Given the description of an element on the screen output the (x, y) to click on. 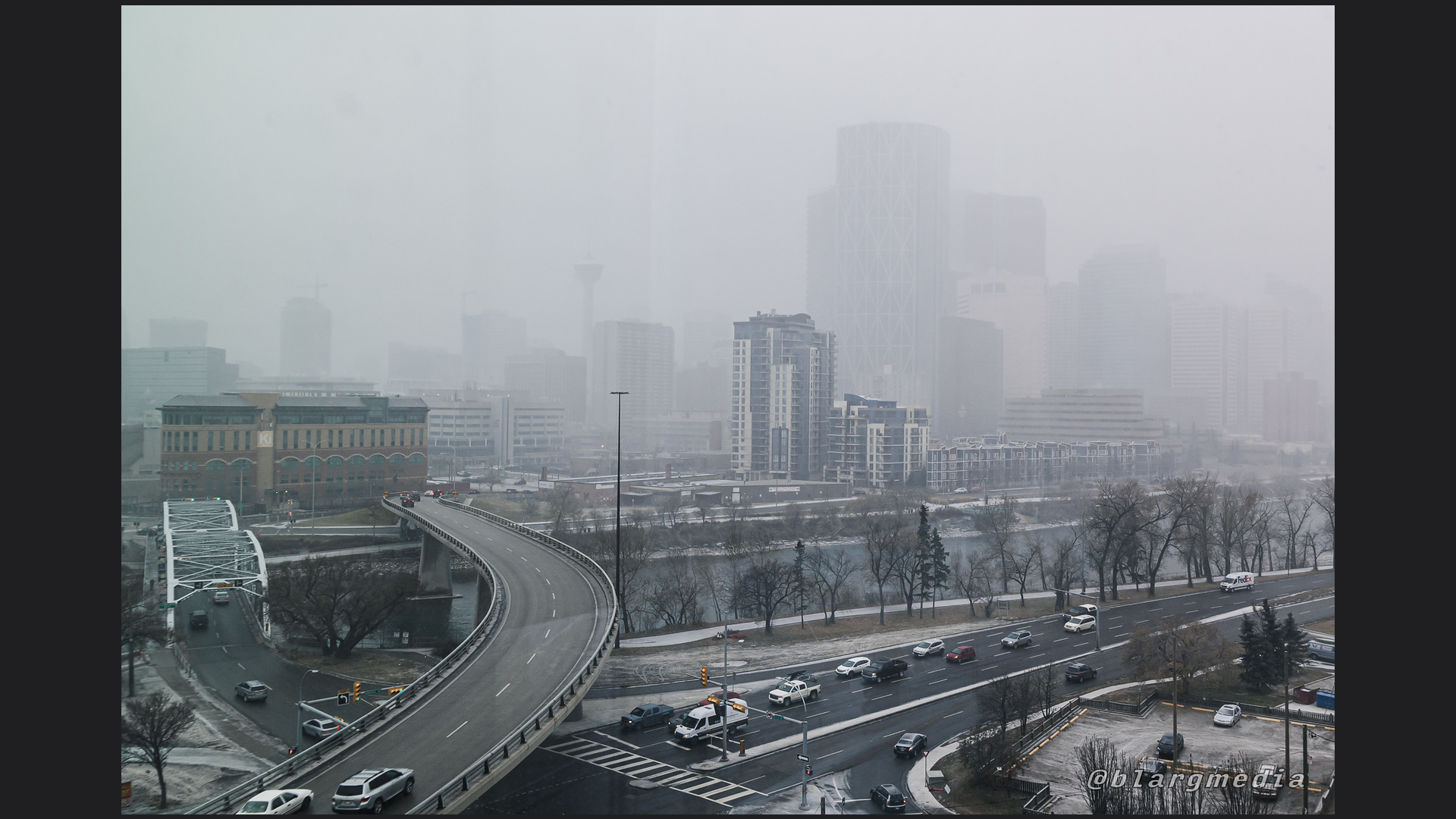
Powered by SmugMug Element type: text (1336, 790)
city and architecture Element type: text (129, 37)
Slideshow Element type: hover (1364, 365)
Owner Log In Element type: text (1419, 790)
Download All Element type: hover (1401, 365)
